Given the description of an element on the screen output the (x, y) to click on. 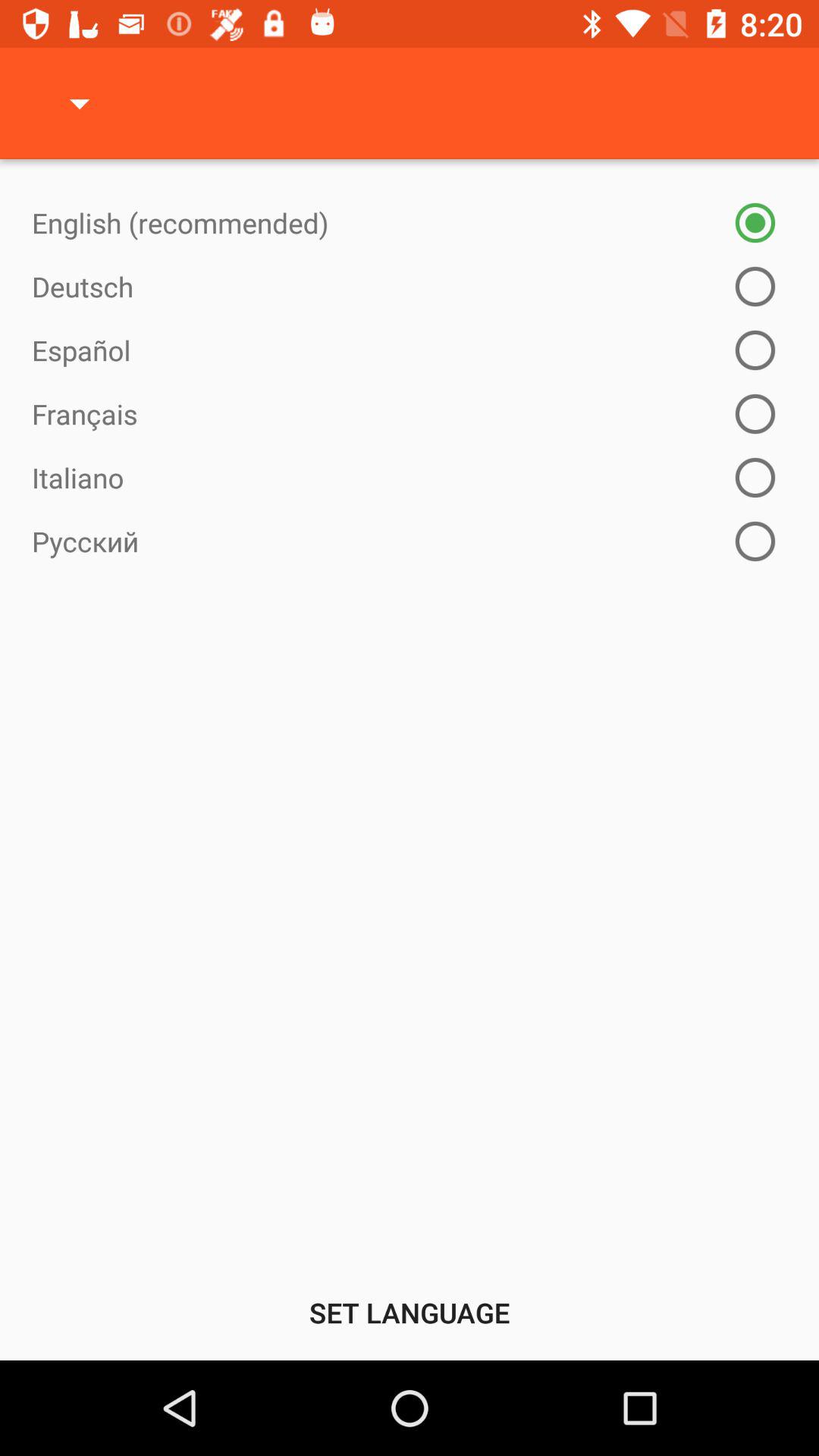
click item at the top left corner (79, 103)
